Given the description of an element on the screen output the (x, y) to click on. 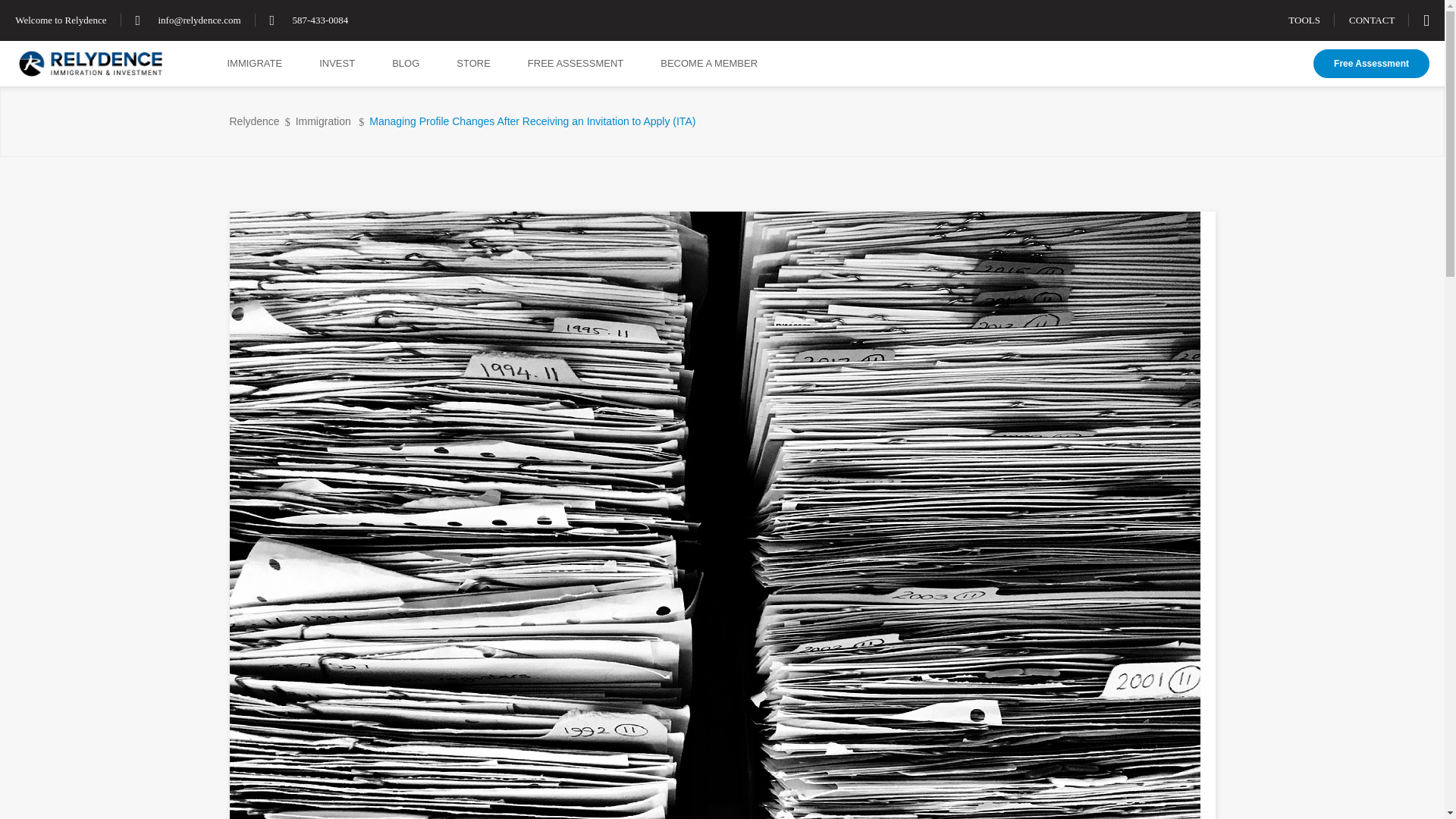
IMMIGRATE (272, 63)
CONTACT (1371, 19)
TOOLS (1304, 19)
